Given the description of an element on the screen output the (x, y) to click on. 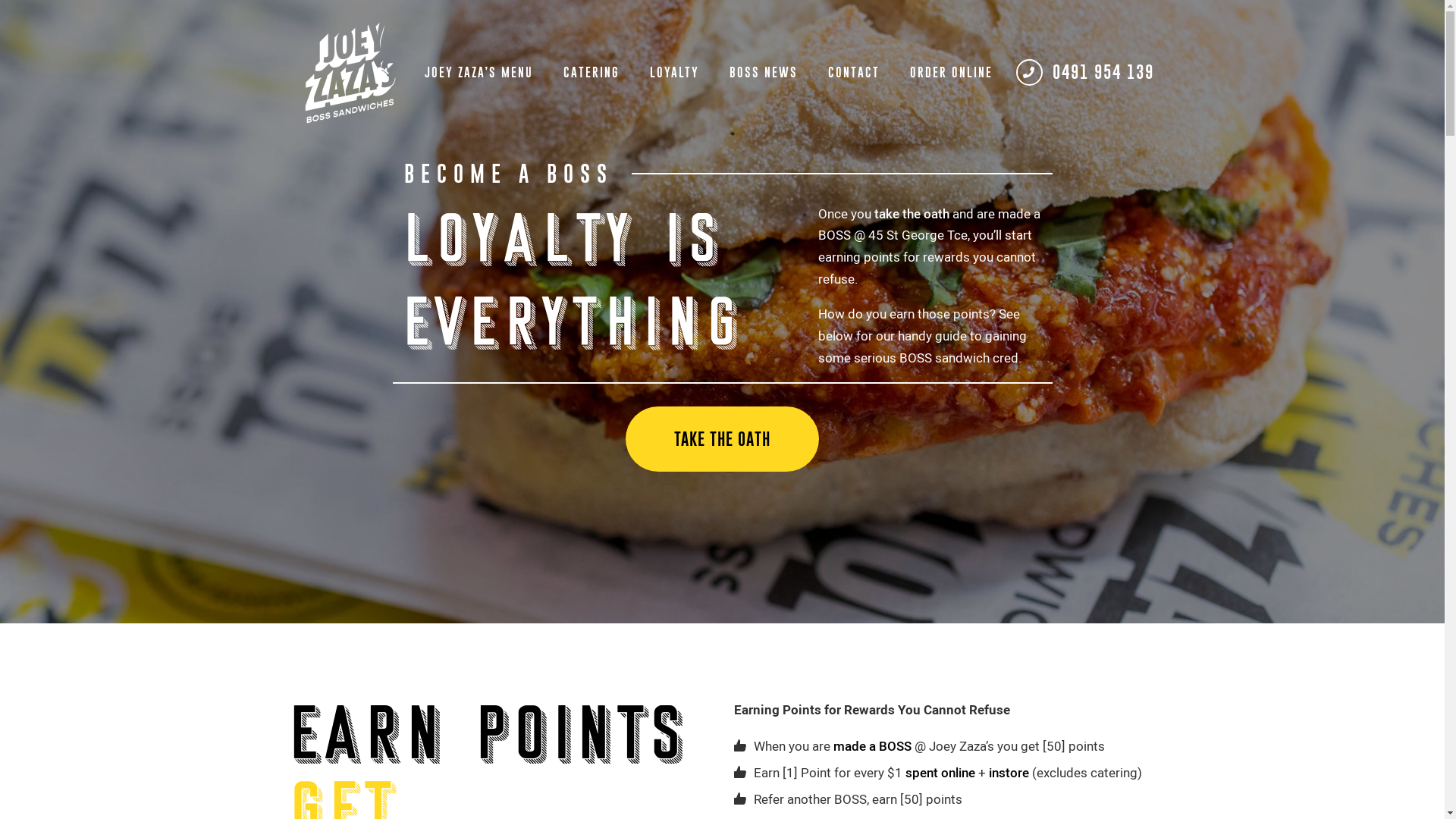
CONTACT Element type: text (853, 72)
spent online Element type: text (940, 772)
made a BOSS Element type: text (871, 745)
take the oath Element type: text (910, 213)
BOSS NEWS Element type: text (763, 72)
instore Element type: text (1008, 772)
0491 954 139 Element type: text (1087, 72)
TAKE THE OATH Element type: text (722, 438)
CATERING Element type: text (590, 72)
ORDER ONLINE Element type: text (950, 72)
LOYALTY Element type: text (673, 72)
